Given the description of an element on the screen output the (x, y) to click on. 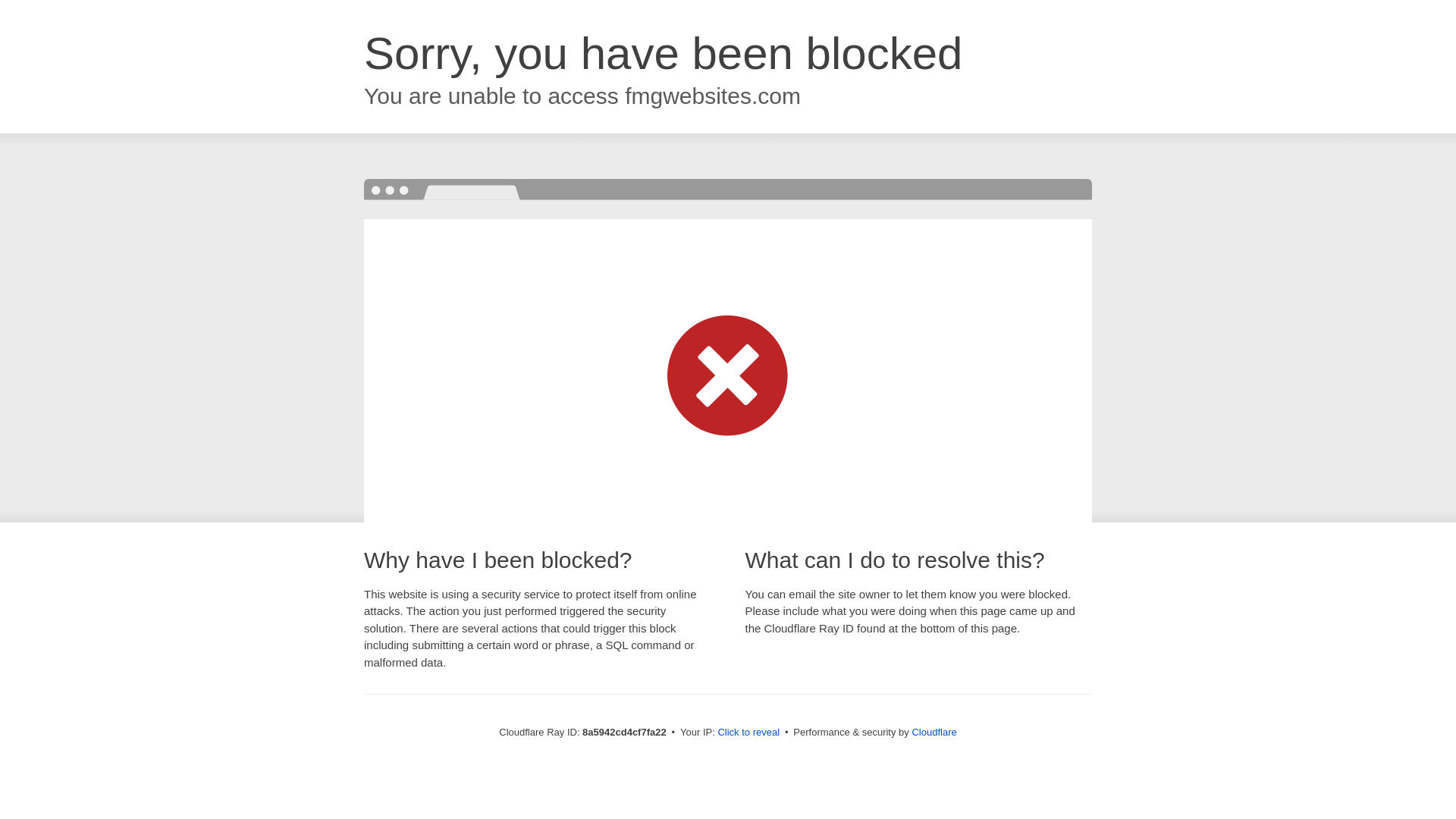
Click to reveal (747, 732)
Cloudflare (933, 731)
